Given the description of an element on the screen output the (x, y) to click on. 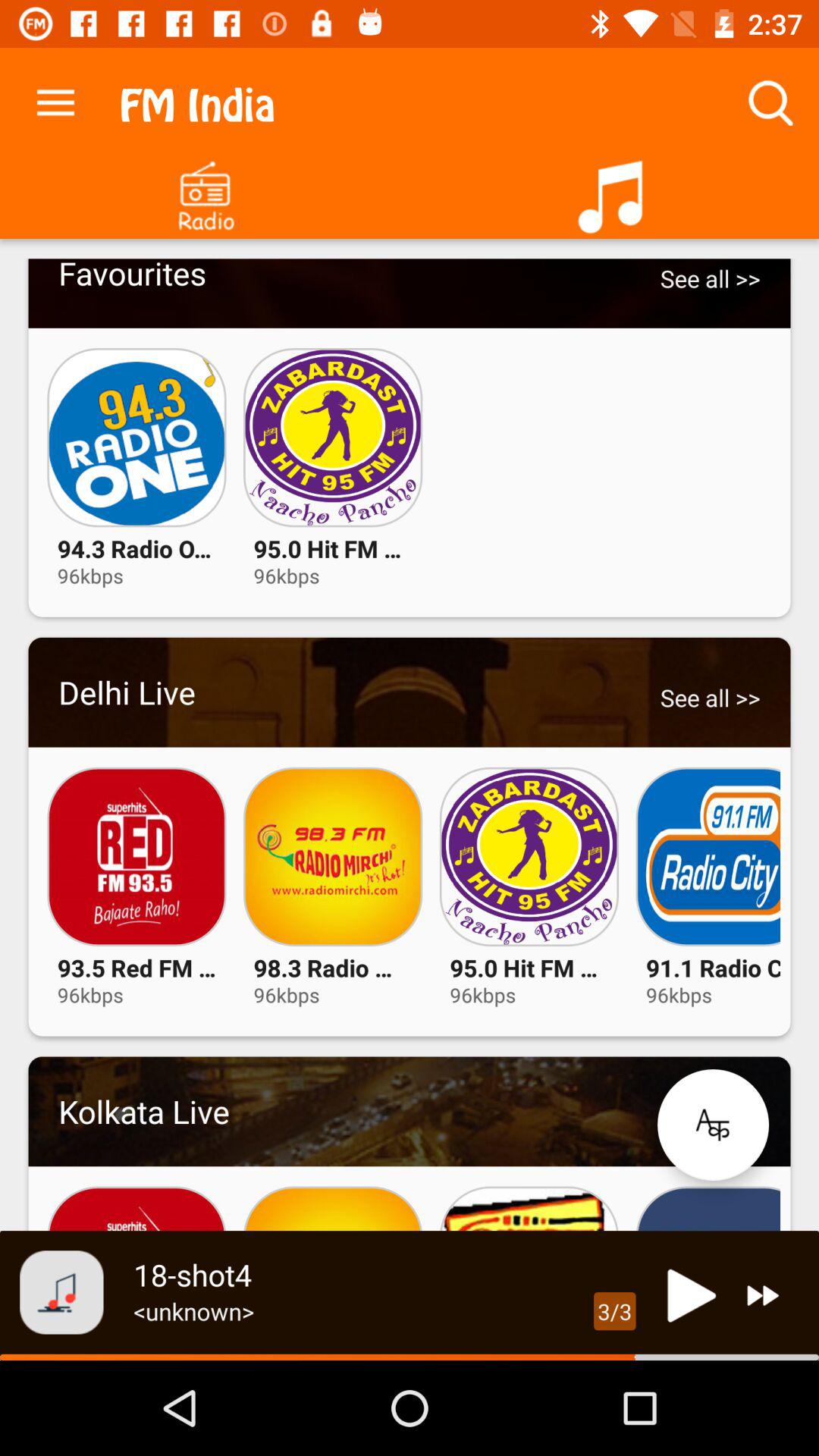
move to radio screen (204, 190)
